Given the description of an element on the screen output the (x, y) to click on. 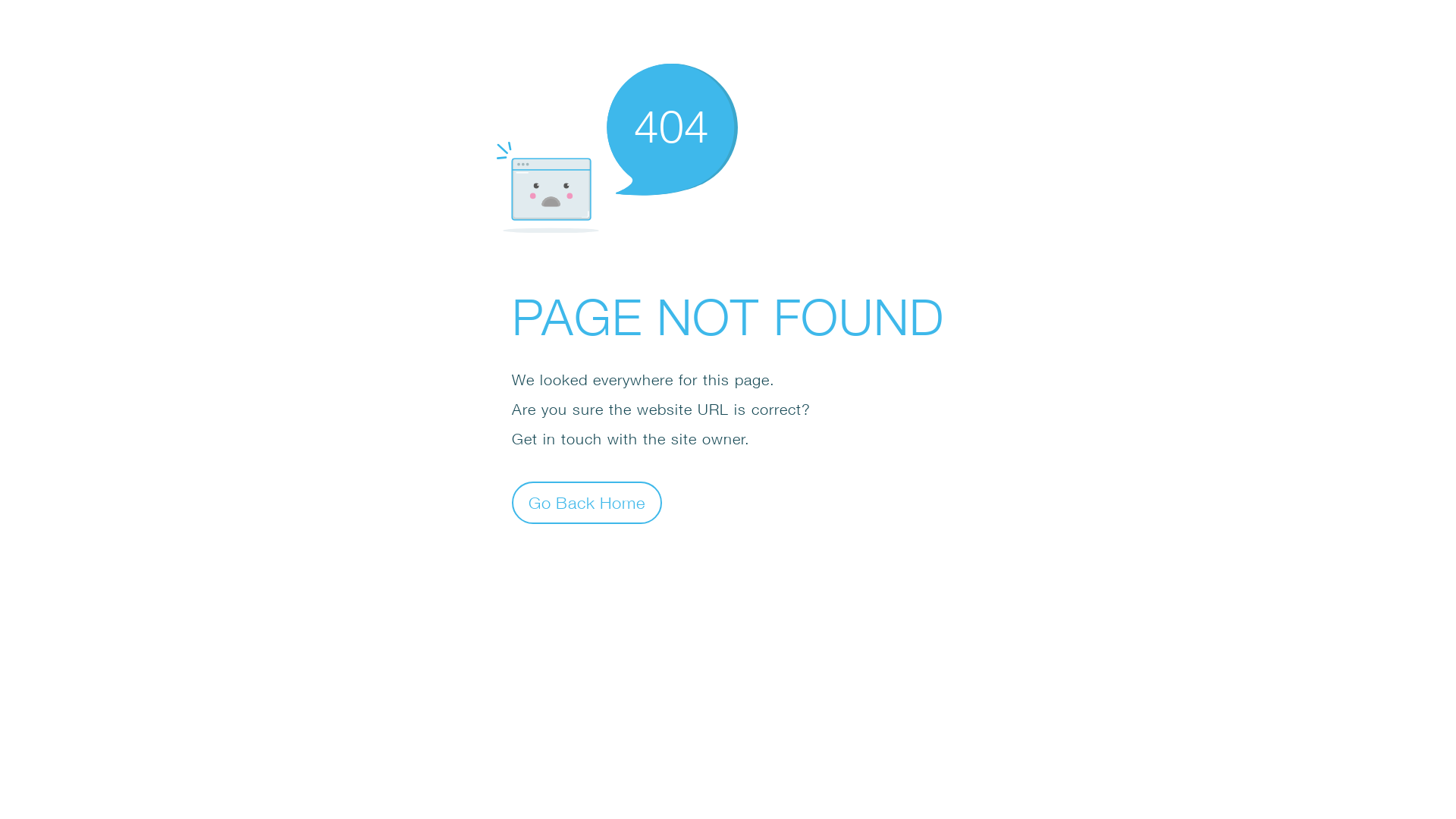
Go Back Home Element type: text (586, 502)
